Given the description of an element on the screen output the (x, y) to click on. 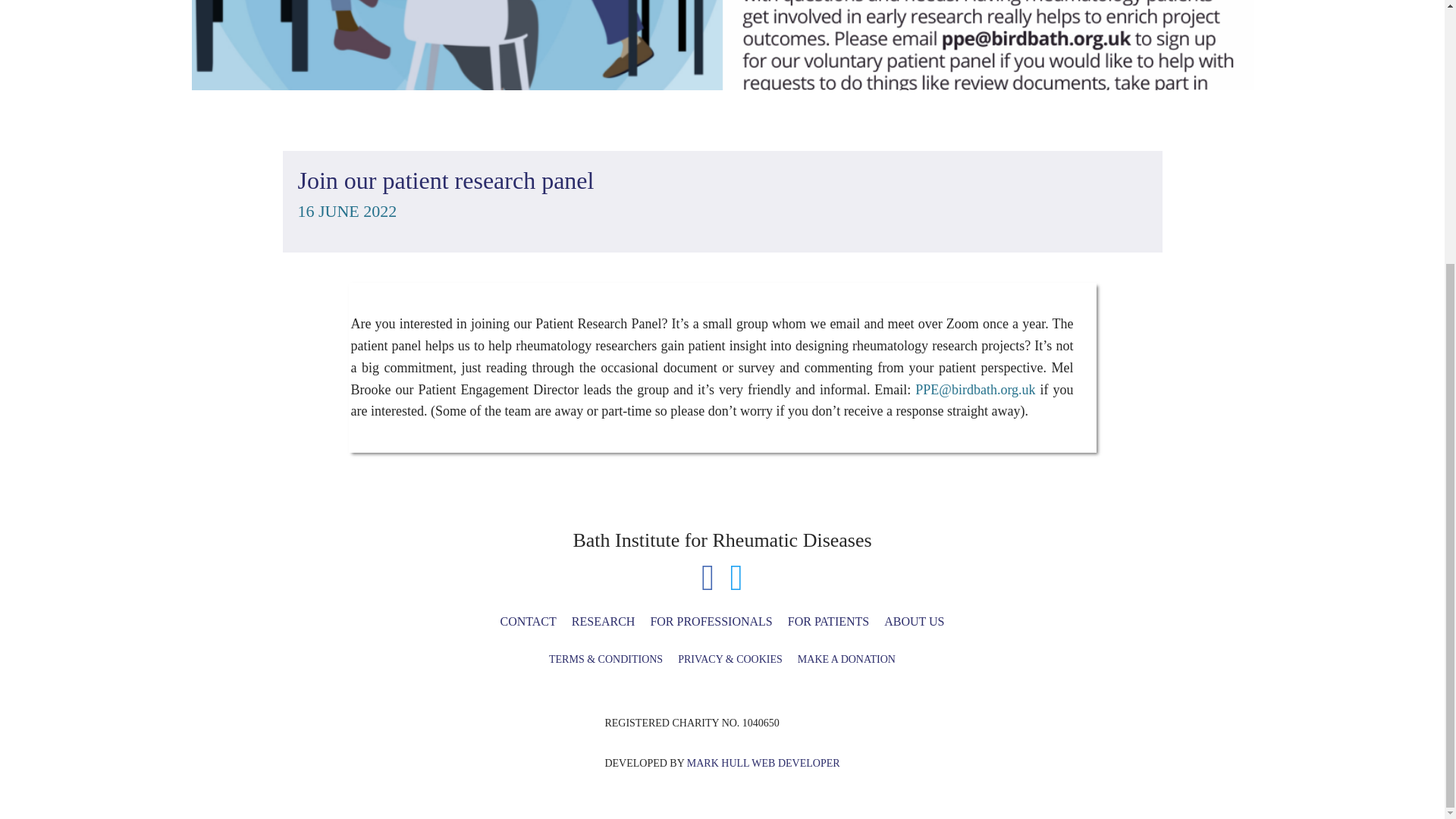
MARK HULL WEB DEVELOPER (763, 763)
MAKE A DONATION (846, 657)
RESEARCH (603, 621)
FOR PROFESSIONALS (710, 621)
For Professionals (710, 621)
Make a Donation (846, 657)
Contact (528, 621)
About Us (914, 621)
ABOUT US (914, 621)
CONTACT (528, 621)
